Given the description of an element on the screen output the (x, y) to click on. 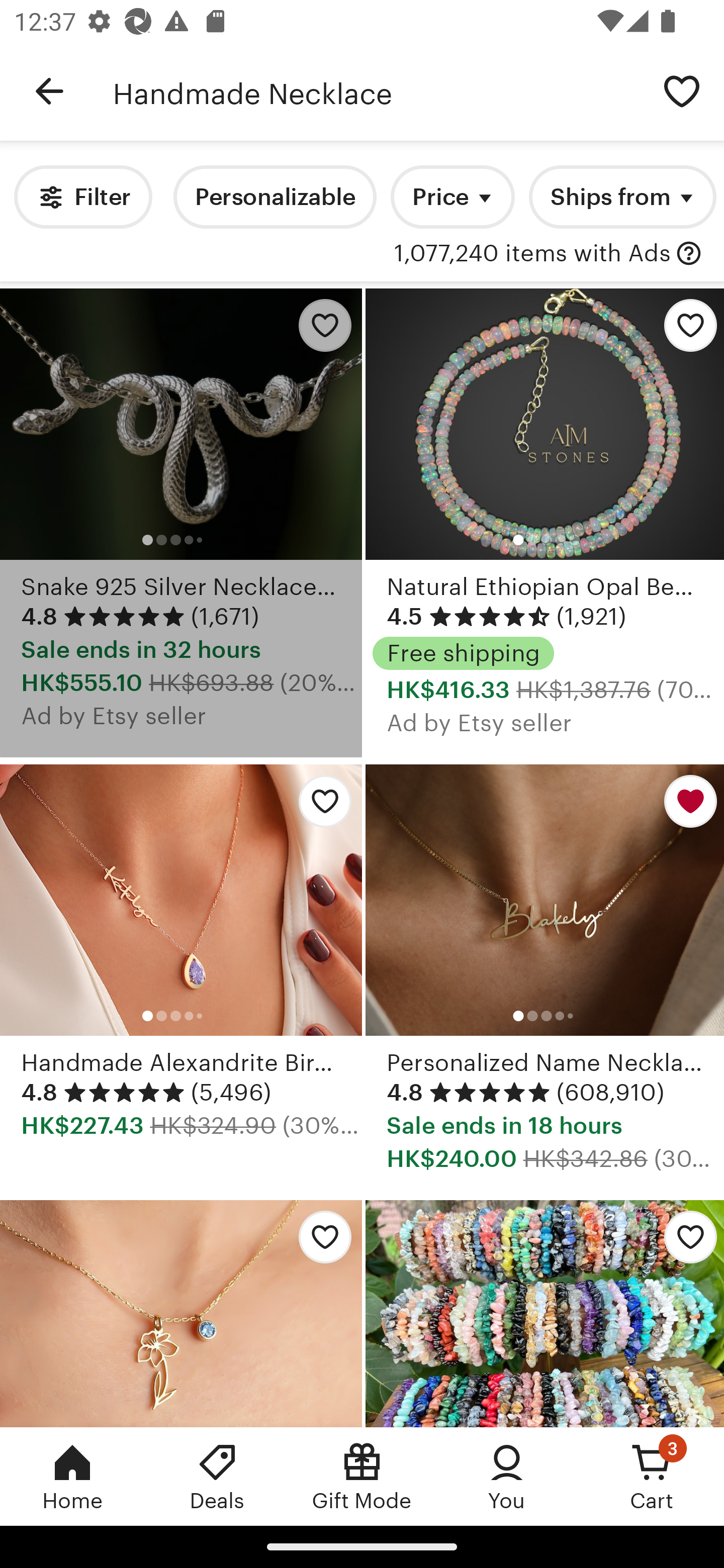
Navigate up (49, 91)
Save search (681, 90)
Handmade Necklace (375, 91)
Filter (82, 197)
Personalizable (274, 197)
Price (452, 197)
Ships from (622, 197)
1,077,240 items with Ads (532, 253)
with Ads (688, 253)
Deals (216, 1475)
Gift Mode (361, 1475)
You (506, 1475)
Cart, 3 new notifications Cart (651, 1475)
